Given the description of an element on the screen output the (x, y) to click on. 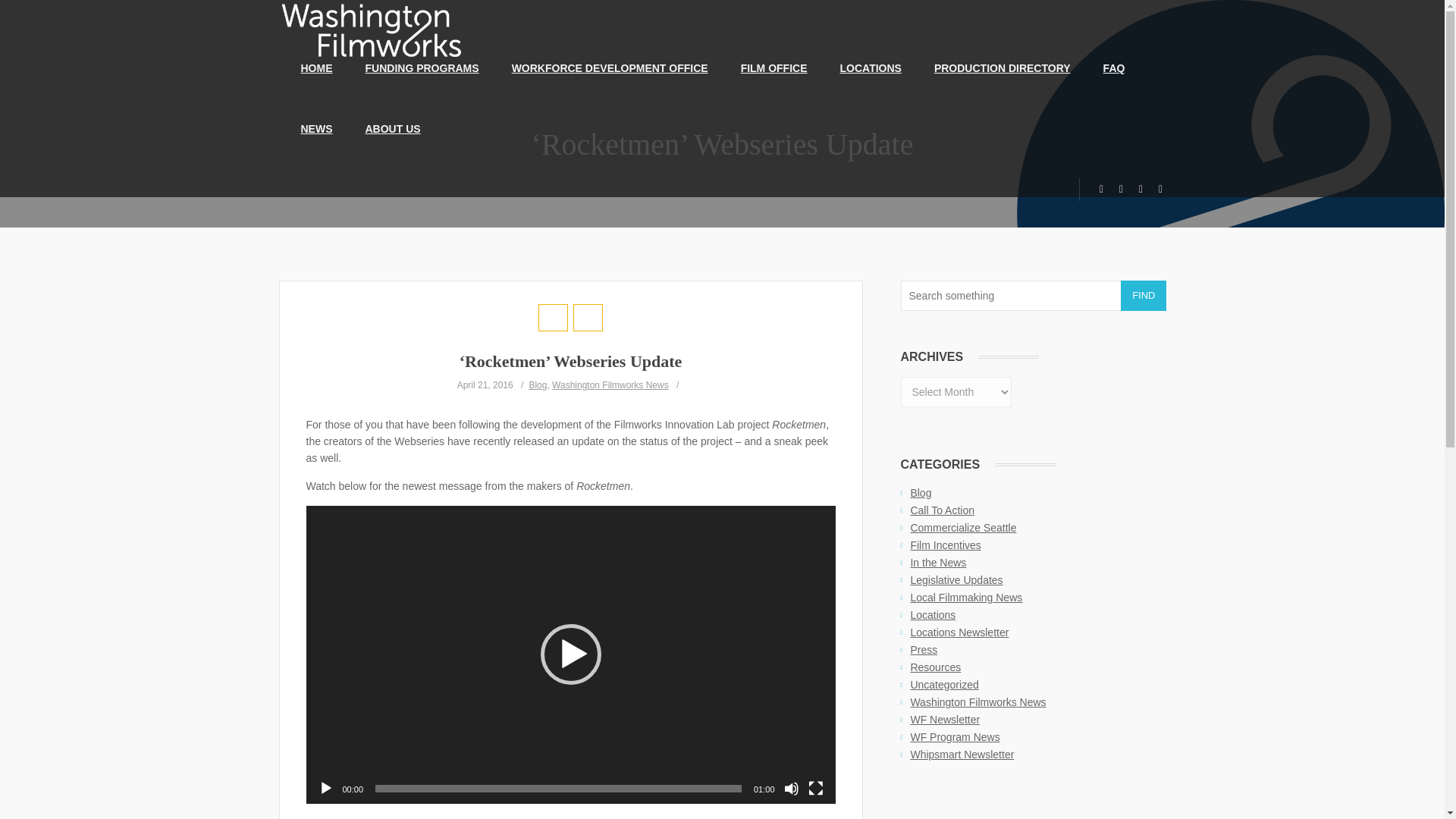
Mute (791, 788)
Fullscreen (816, 788)
LOCATIONS (870, 67)
FUNDING PROGRAMS (422, 67)
Play (325, 788)
FILM OFFICE (774, 67)
WORKFORCE DEVELOPMENT OFFICE (609, 67)
PRODUCTION DIRECTORY (1002, 67)
